Given the description of an element on the screen output the (x, y) to click on. 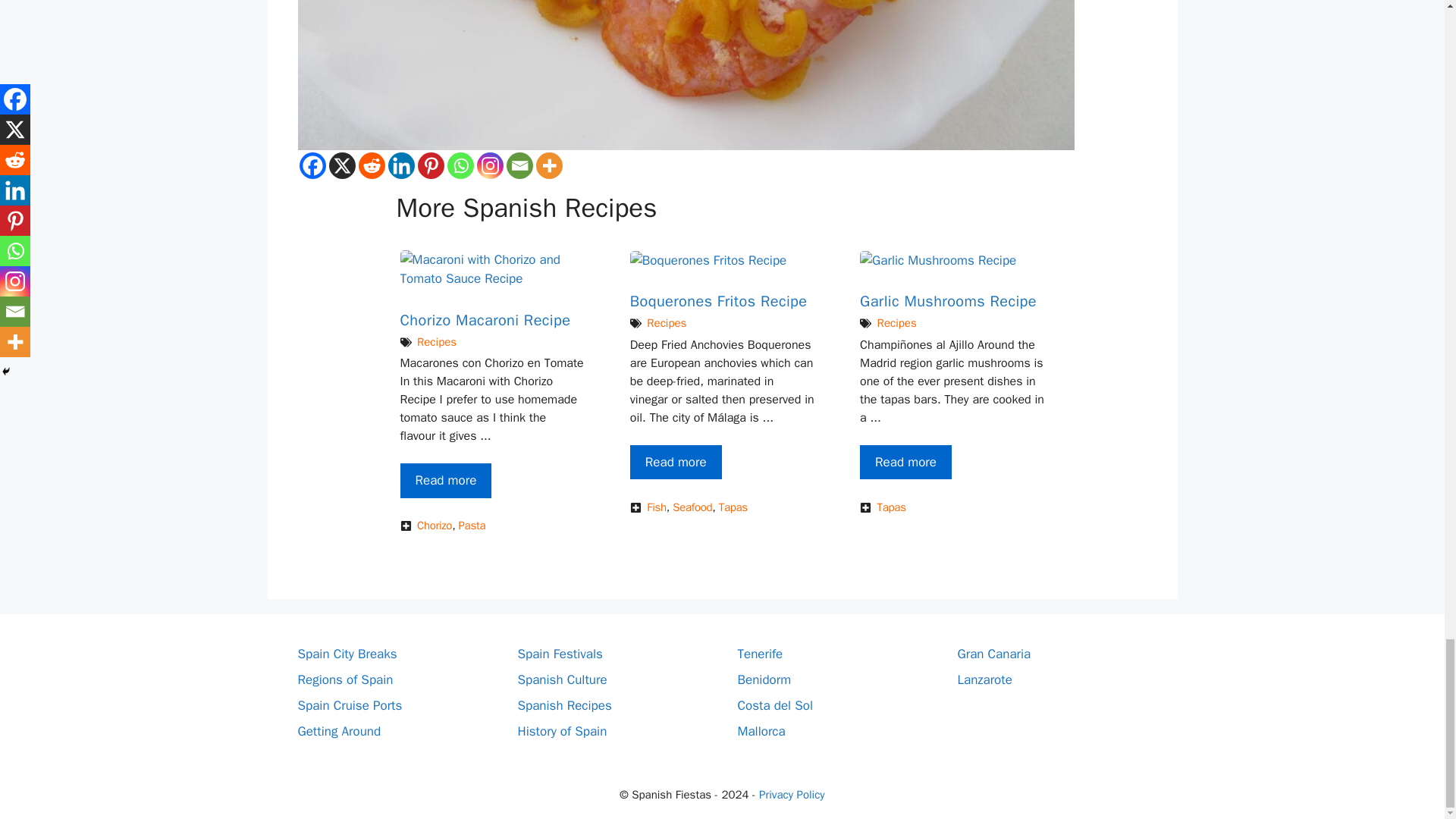
Linkedin (401, 165)
Pinterest (430, 165)
Email (519, 165)
Reddit (371, 165)
X (342, 165)
Whatsapp (460, 165)
Facebook (311, 165)
Instagram (489, 165)
